Given the description of an element on the screen output the (x, y) to click on. 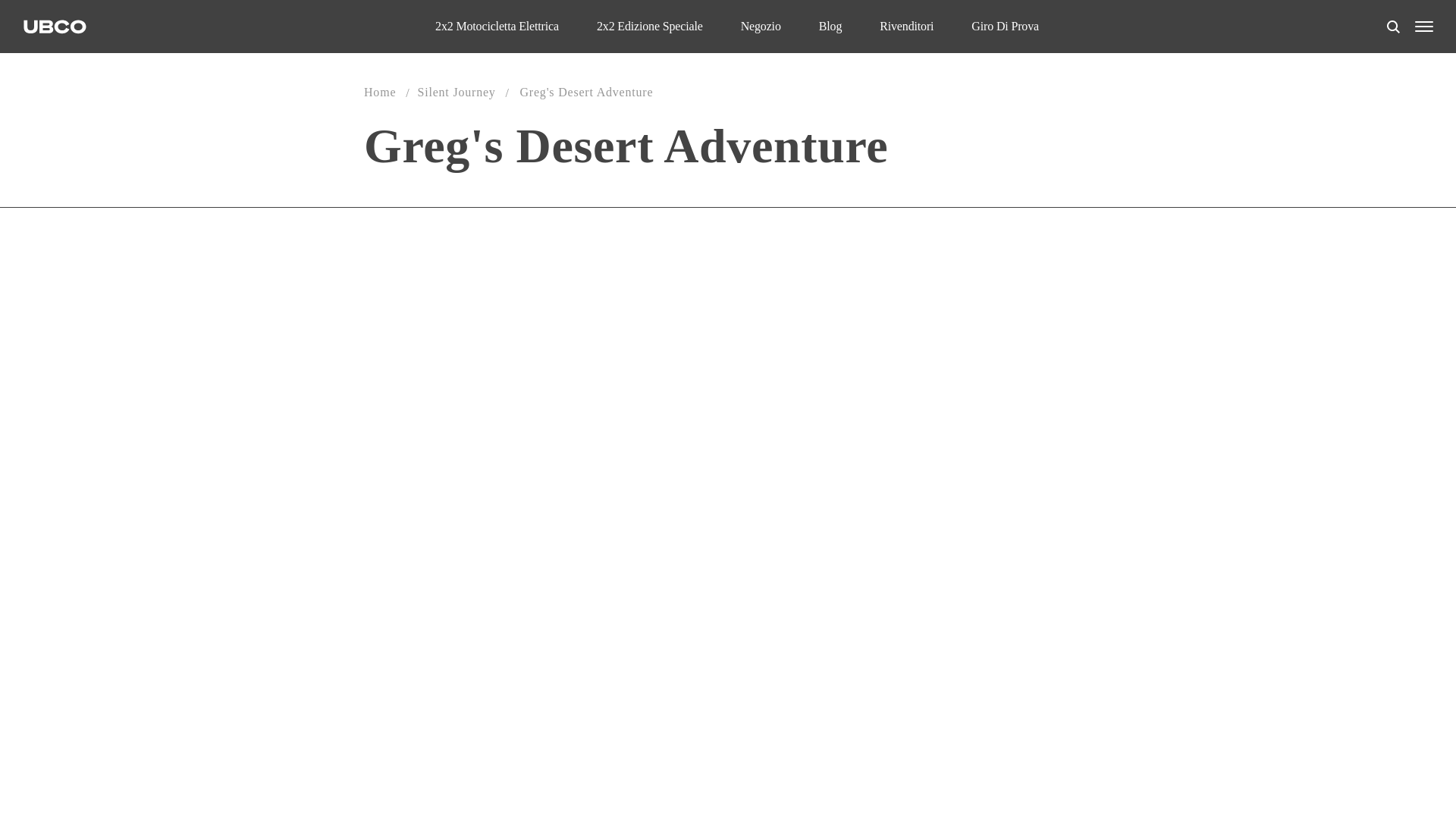
Blog (829, 26)
UBCO Bikes (55, 26)
UBCO (55, 26)
Negozio (760, 26)
Greg's Desert Adventure (585, 91)
Home (380, 91)
2x2 Motocicletta Elettrica (497, 26)
Giro Di Prova (1005, 26)
Silent Journey (455, 91)
2x2 Edizione Speciale (649, 26)
Rivenditori (906, 26)
